Given the description of an element on the screen output the (x, y) to click on. 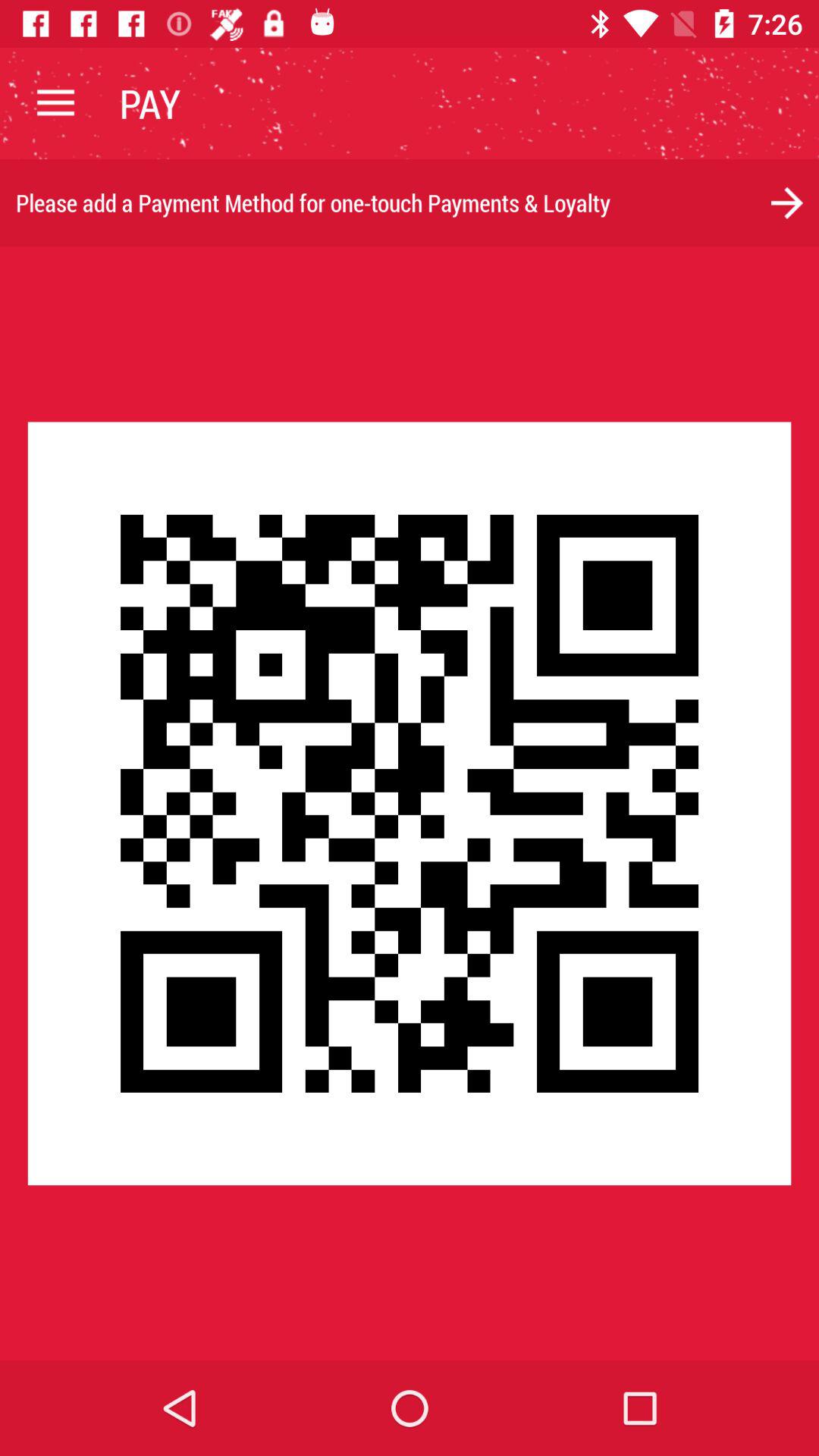
click please add a item (409, 202)
